Given the description of an element on the screen output the (x, y) to click on. 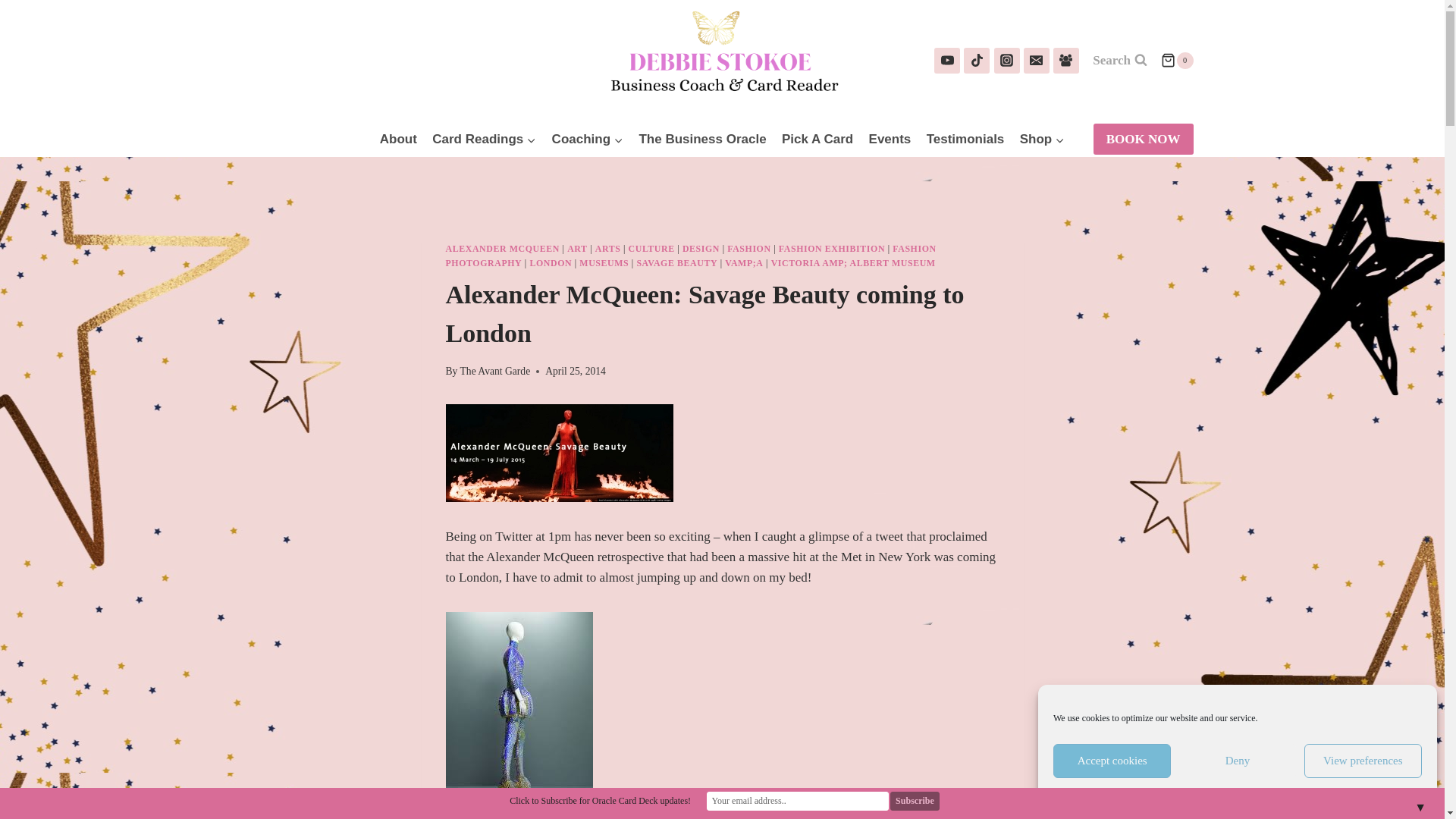
BOOK NOW (1143, 138)
Cookie Policy (1206, 792)
Coaching (586, 139)
Subscribe (914, 800)
Pick A Card (817, 139)
About (398, 139)
Deny (1236, 760)
Privacy Policy (1267, 792)
Shop (1042, 139)
View preferences (1363, 760)
